Given the description of an element on the screen output the (x, y) to click on. 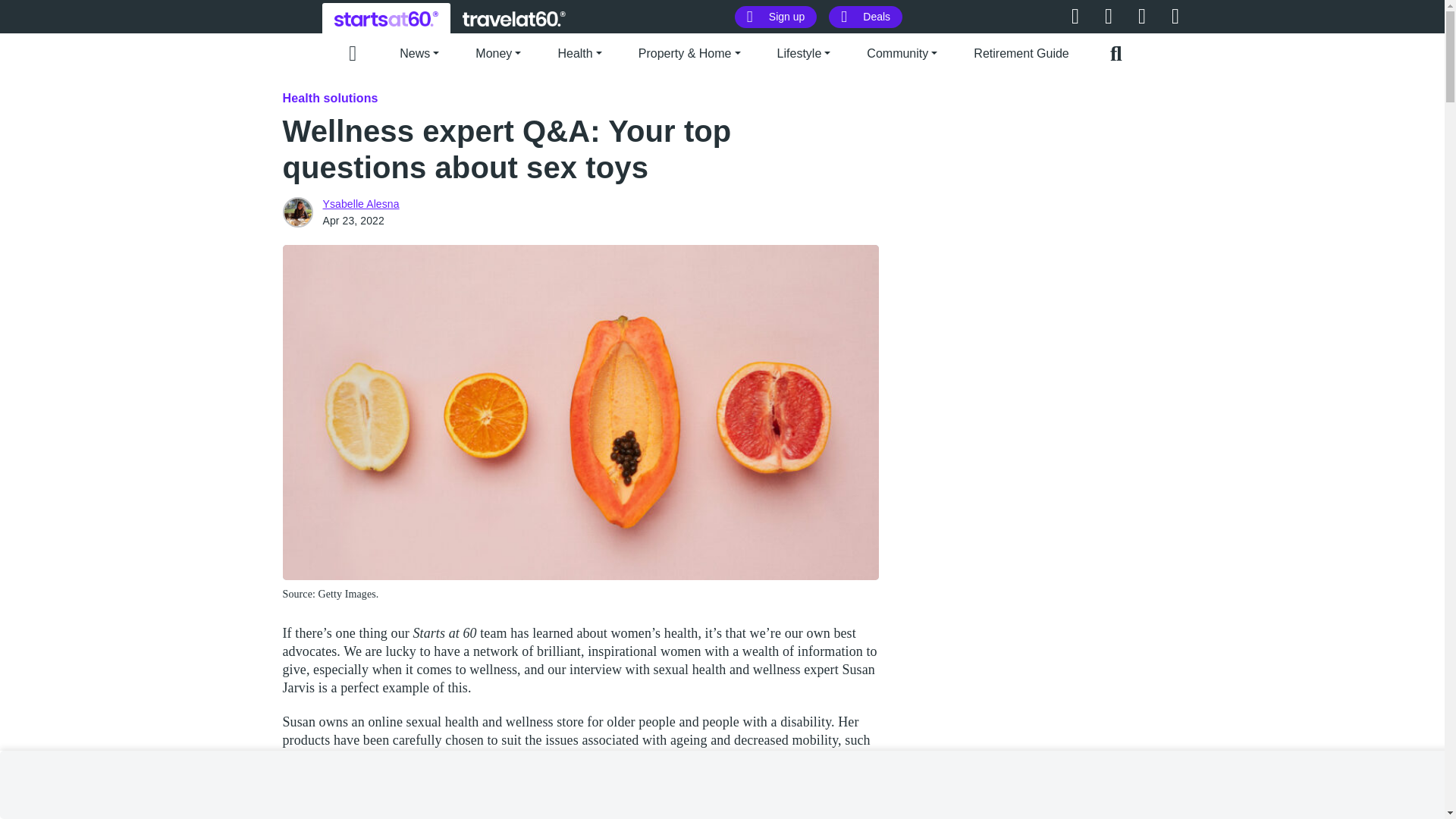
Ysabelle Alesna (360, 203)
Hi !  (514, 18)
News (418, 51)
Money (498, 51)
Deals (865, 16)
Health solutions (329, 97)
Hi !  (386, 18)
Ysabelle Alesna (297, 212)
Sign up (775, 16)
Health (579, 51)
